Given the description of an element on the screen output the (x, y) to click on. 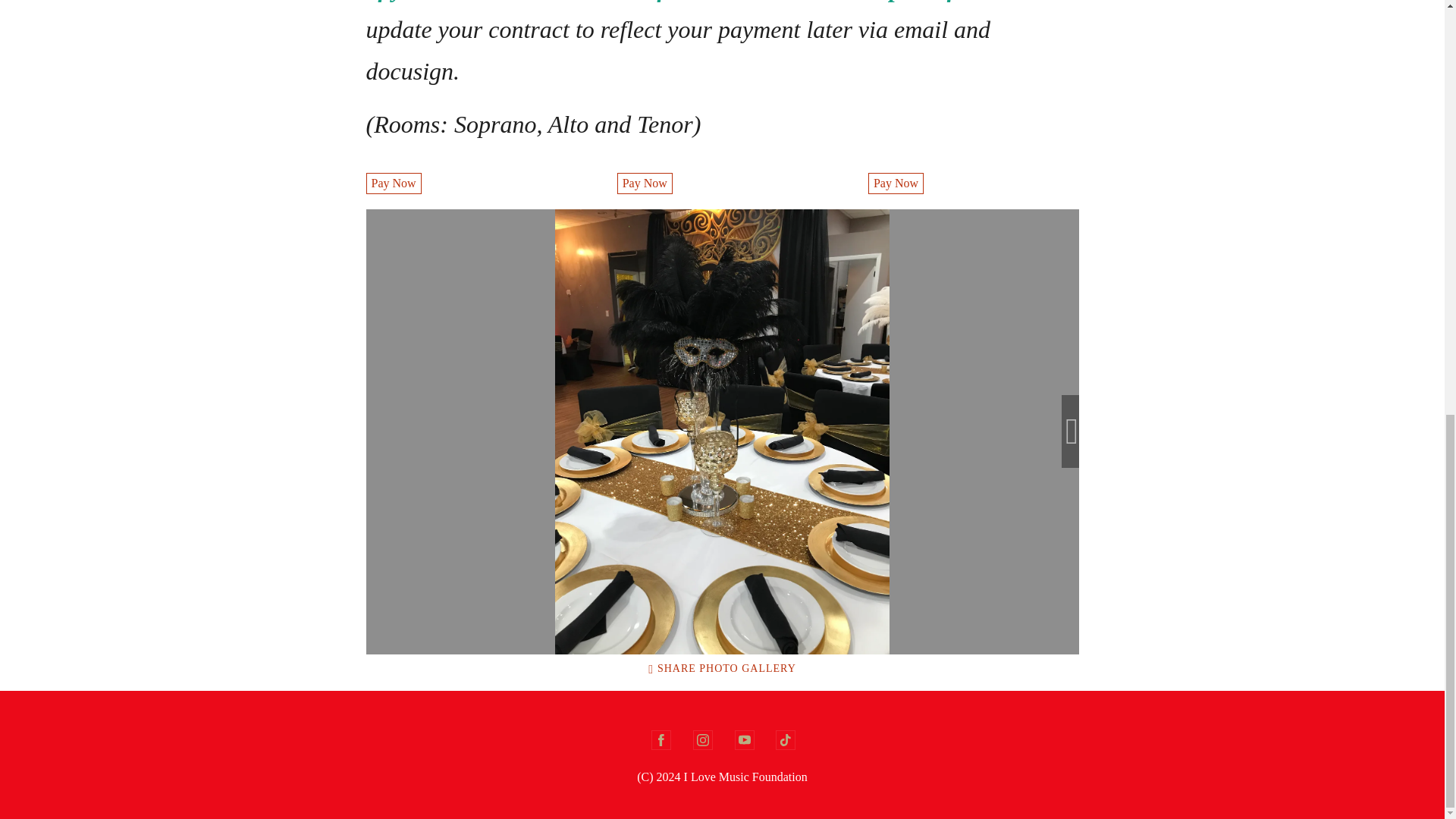
Pay Now (392, 183)
Pay Now (895, 183)
Pay Now (392, 183)
Share RHYTHM FACTORY GALLERY (721, 668)
Pay Now (895, 183)
Pay Now (644, 183)
Pay Now (644, 183)
